Given the description of an element on the screen output the (x, y) to click on. 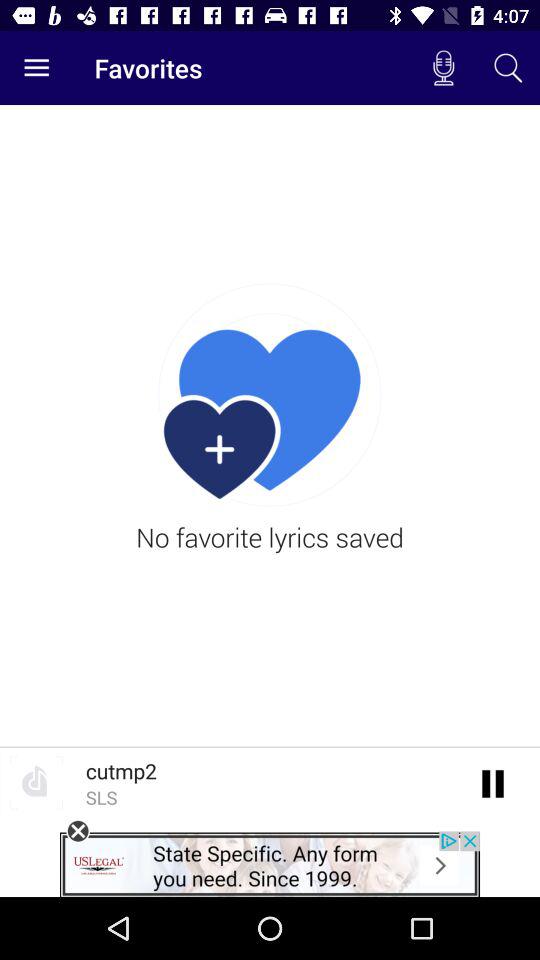
advertisement (270, 864)
